Given the description of an element on the screen output the (x, y) to click on. 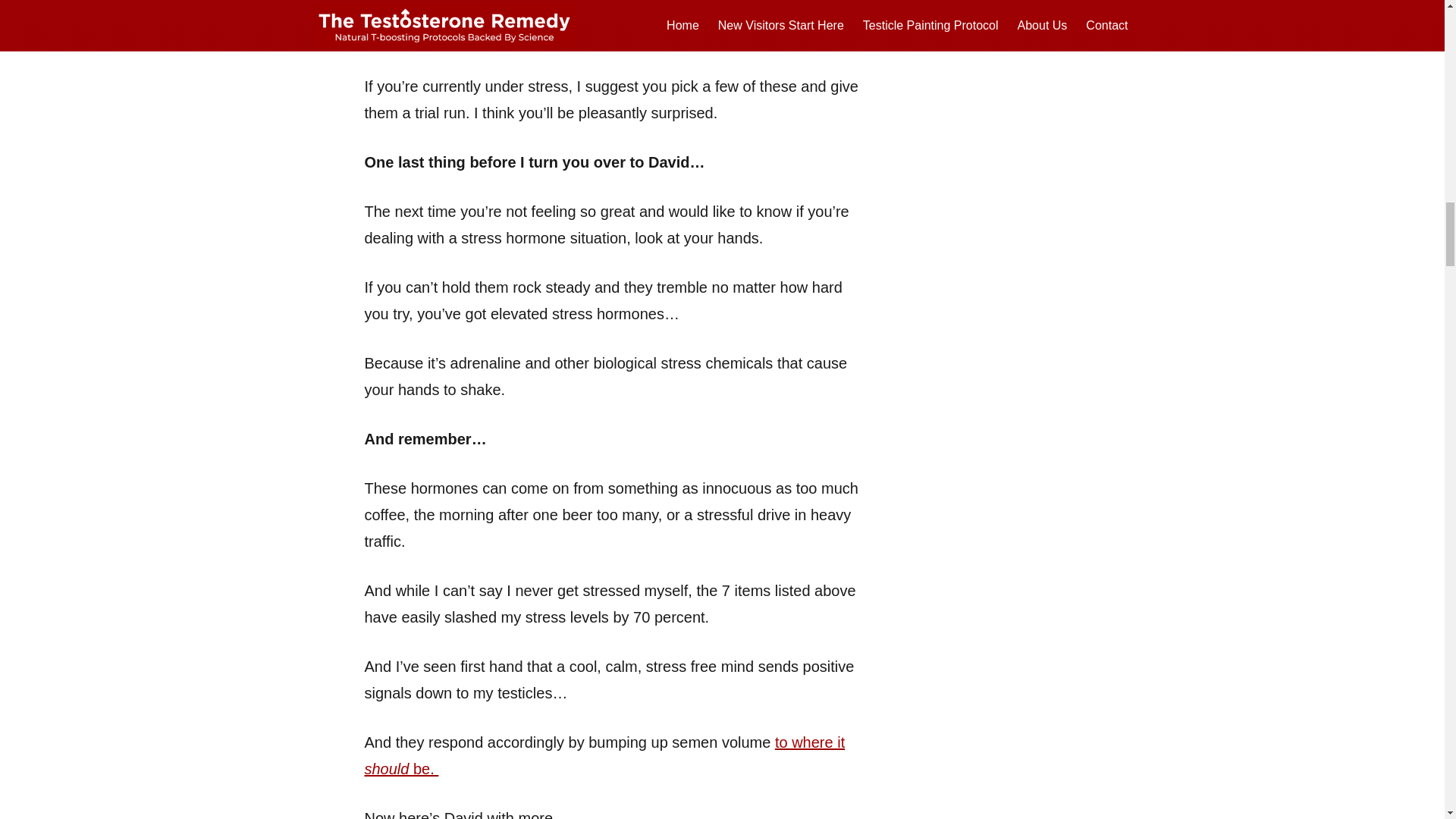
to where it should be.  (604, 755)
